Given the description of an element on the screen output the (x, y) to click on. 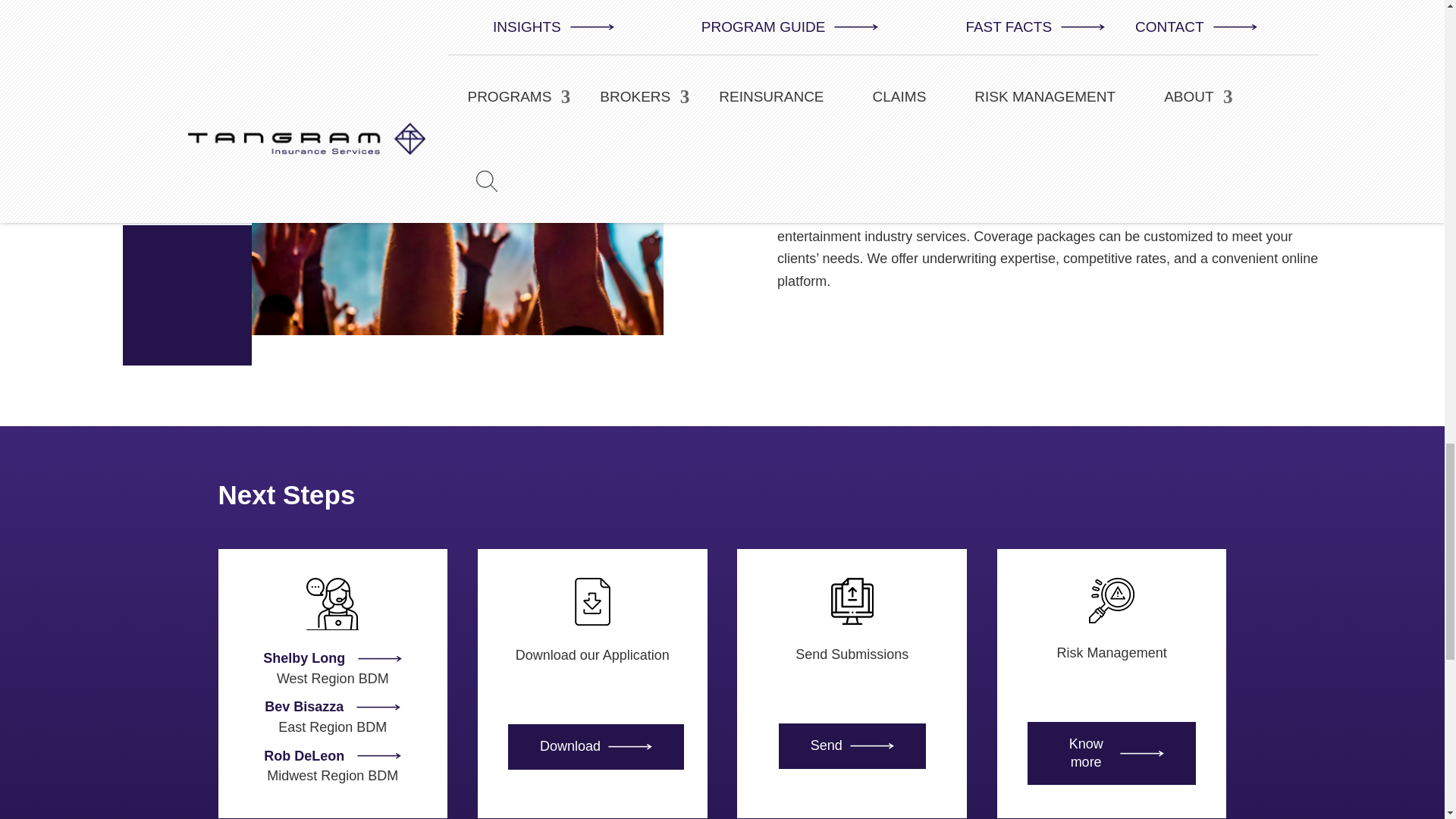
next-step-icon1 (331, 603)
next-step-icon4 (1111, 600)
next-step-icon3 (852, 601)
